Given the description of an element on the screen output the (x, y) to click on. 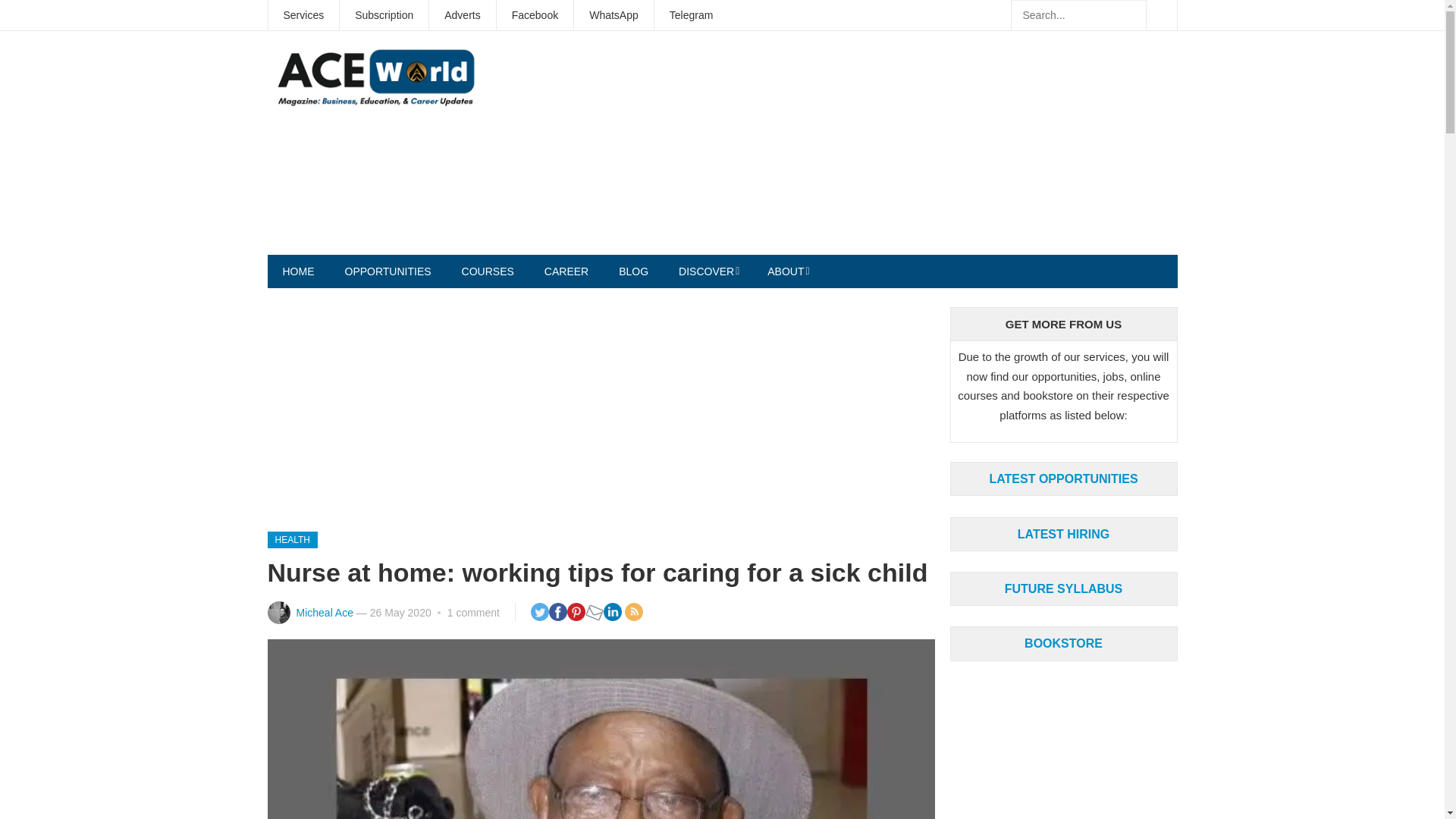
COURSES (487, 271)
Advertisement (900, 148)
View all posts in Health (291, 539)
Subscription (383, 15)
OPPORTUNITIES (387, 271)
ABOUT (787, 271)
Micheal Ace (323, 612)
HEALTH (291, 539)
BLOG (633, 271)
1 comment (472, 612)
Posts by Micheal Ace (323, 612)
Services (303, 15)
Telegram (691, 15)
WhatsApp (613, 15)
